Given the description of an element on the screen output the (x, y) to click on. 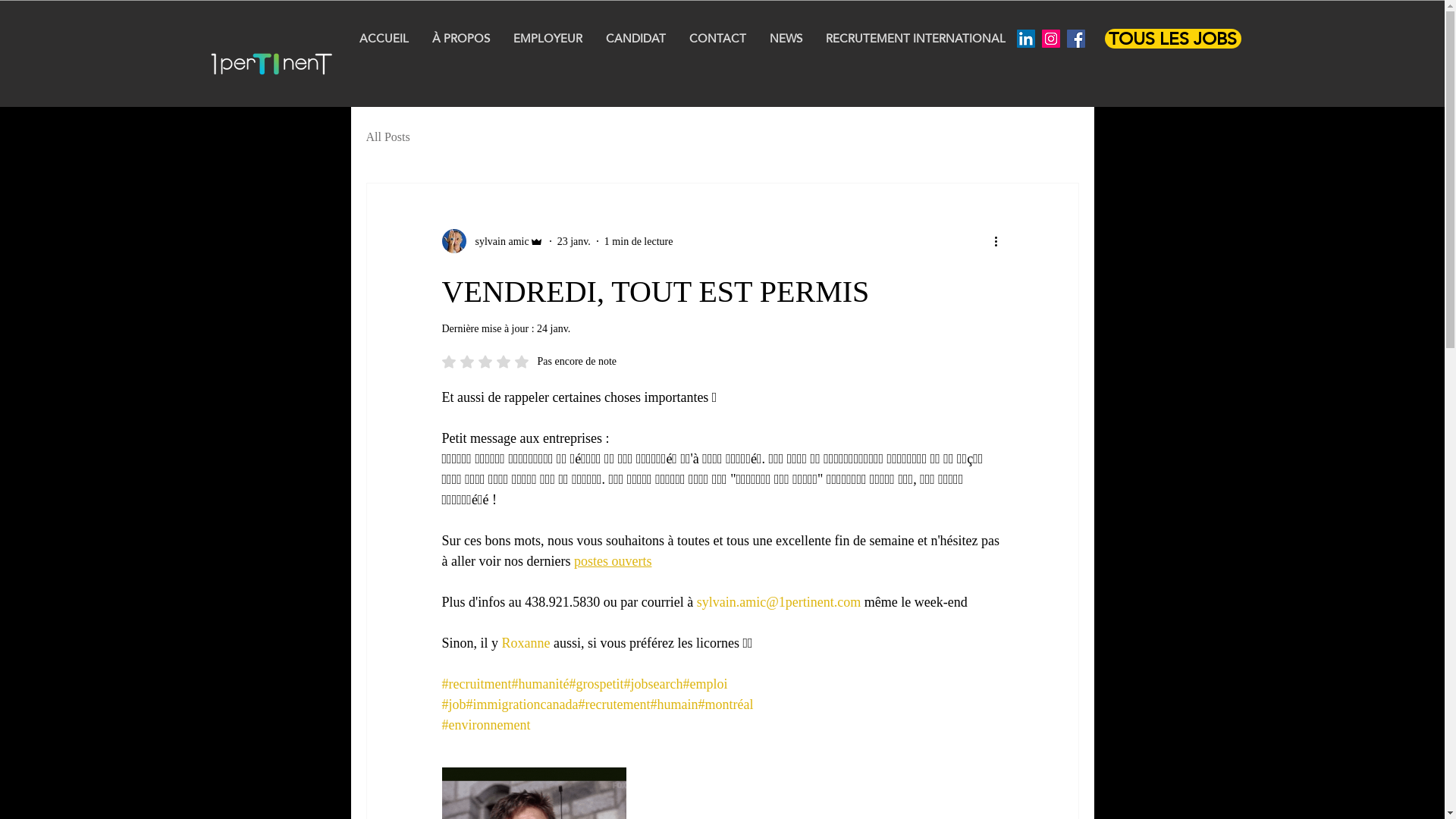
#recruitment Element type: text (476, 683)
sylvain amic Element type: text (491, 241)
EMPLOYEUR Element type: text (547, 38)
NEWS Element type: text (785, 38)
ACCUEIL Element type: text (383, 38)
#environnement Element type: text (485, 724)
#humain Element type: text (673, 704)
#emploi Element type: text (704, 683)
sylvain.amic@1pertinent.com Element type: text (778, 601)
Roxanne Element type: text (526, 642)
CONTACT Element type: text (717, 38)
#immigrationcanada Element type: text (522, 704)
TOUS LES JOBS Element type: text (1172, 38)
All Posts Element type: text (387, 137)
#job Element type: text (453, 704)
postes ouverts Element type: text (613, 560)
CANDIDAT Element type: text (635, 38)
#recrutement Element type: text (613, 704)
#jobsearch Element type: text (652, 683)
#grospetit Element type: text (595, 683)
RECRUTEMENT INTERNATIONAL Element type: text (915, 38)
